Given the description of an element on the screen output the (x, y) to click on. 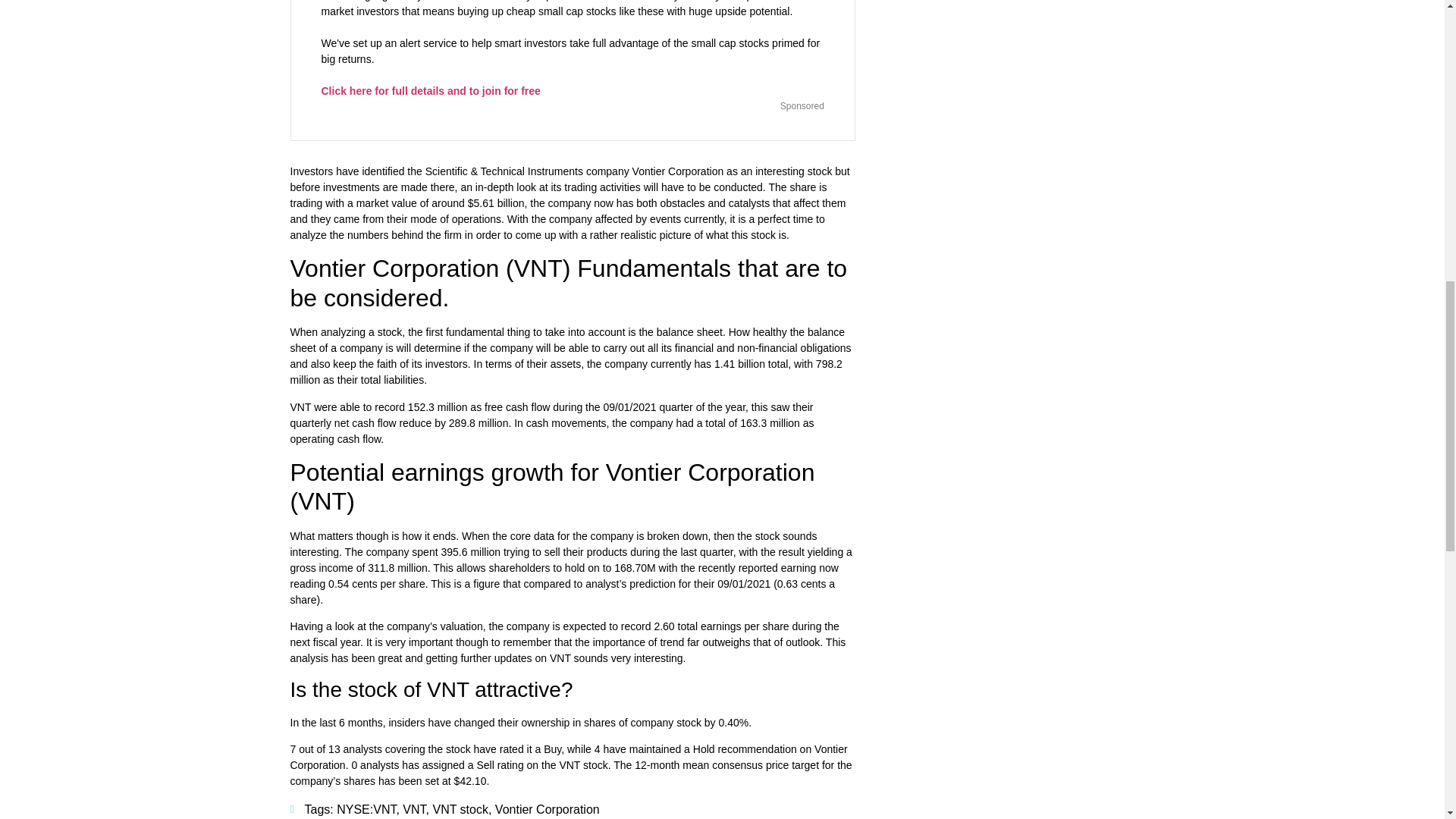
Vontier Corporation (547, 809)
VNT (414, 809)
VNT stock (459, 809)
NYSE:VNT (366, 809)
Click here for full details and to join for free (430, 91)
